Given the description of an element on the screen output the (x, y) to click on. 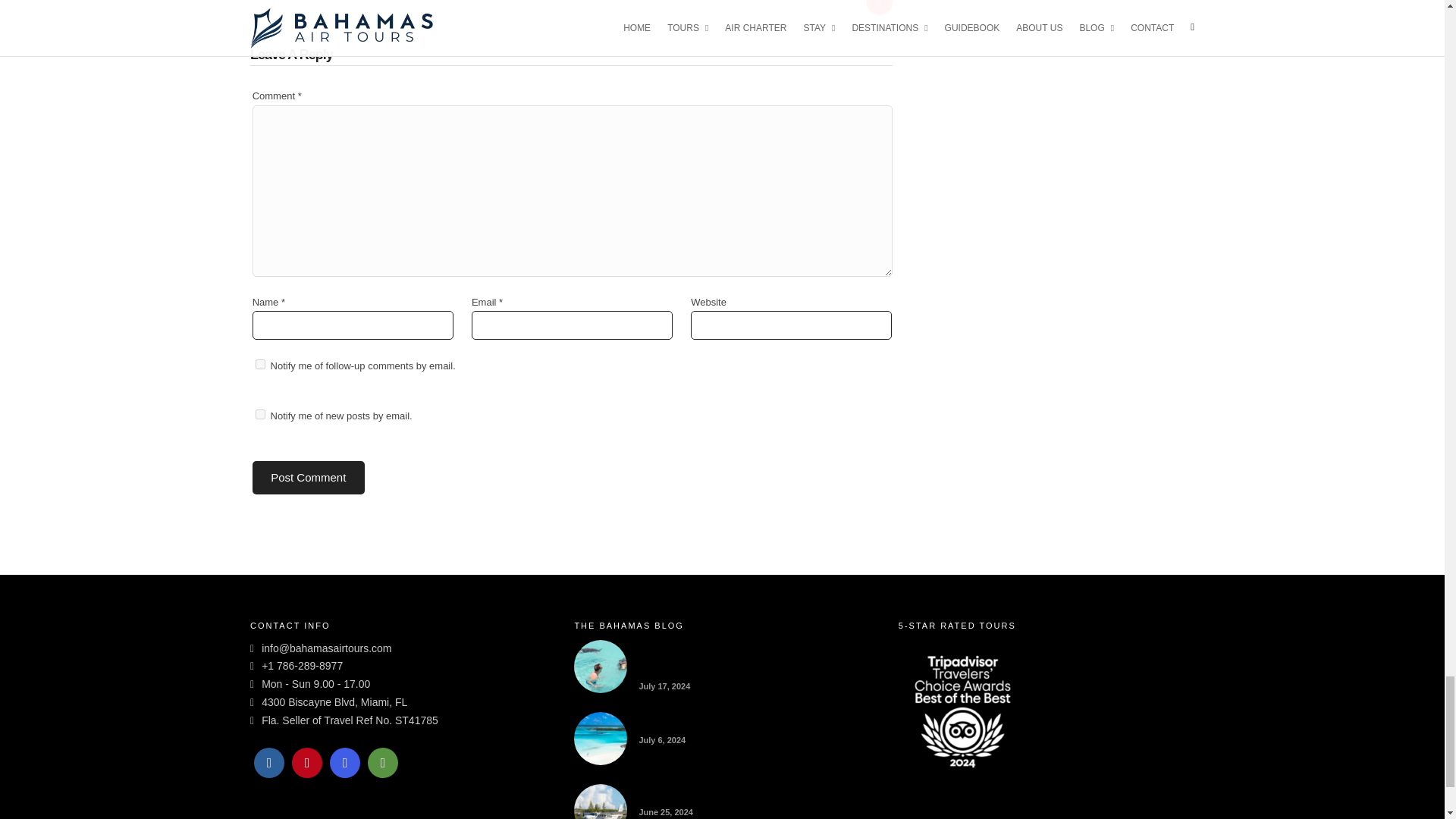
Post Comment (308, 478)
subscribe (260, 364)
subscribe (260, 414)
